Given the description of an element on the screen output the (x, y) to click on. 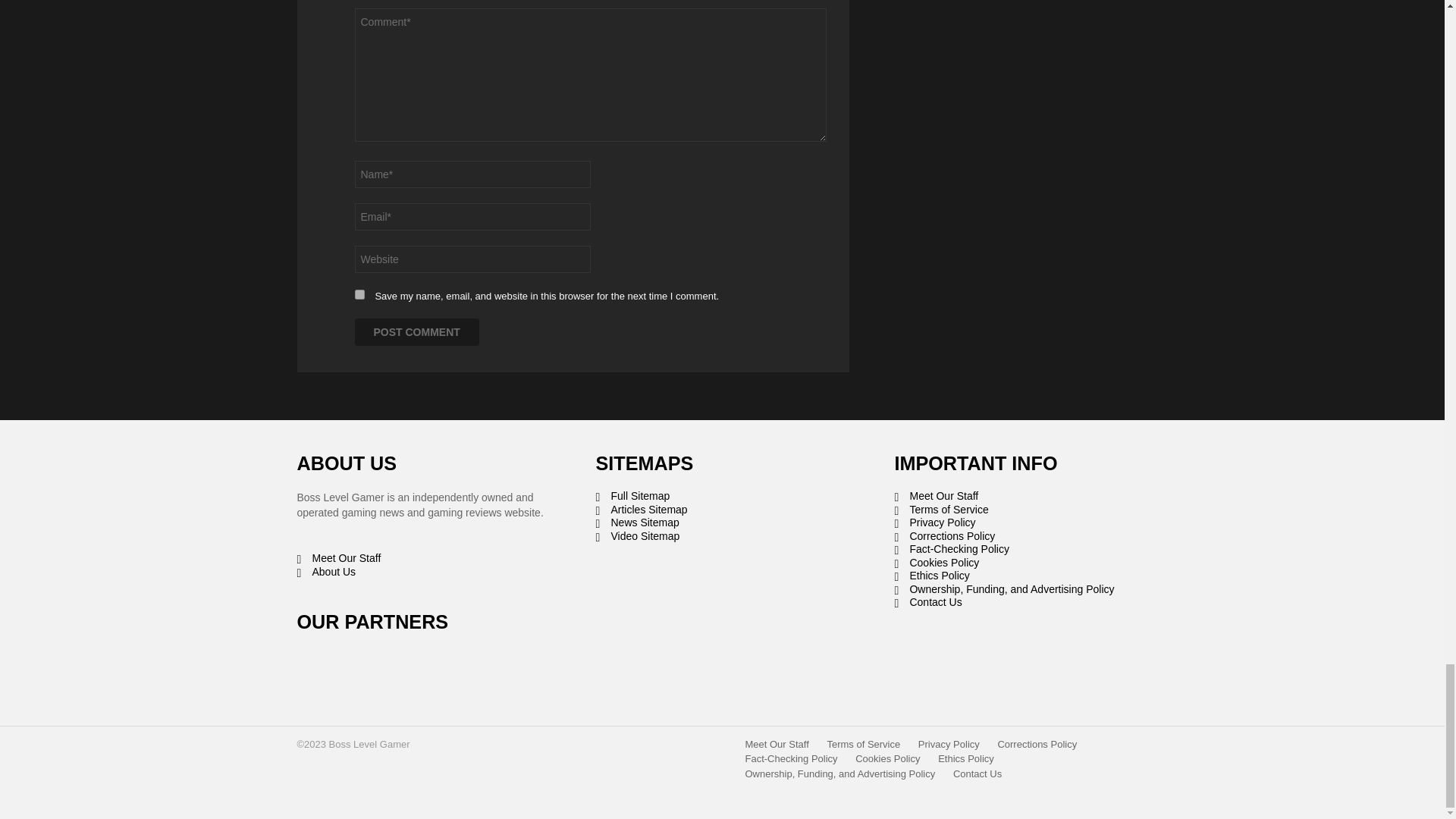
yes (360, 294)
Post Comment (417, 331)
Meet Our Staff (423, 558)
Post Comment (417, 331)
About Us (423, 572)
